Given the description of an element on the screen output the (x, y) to click on. 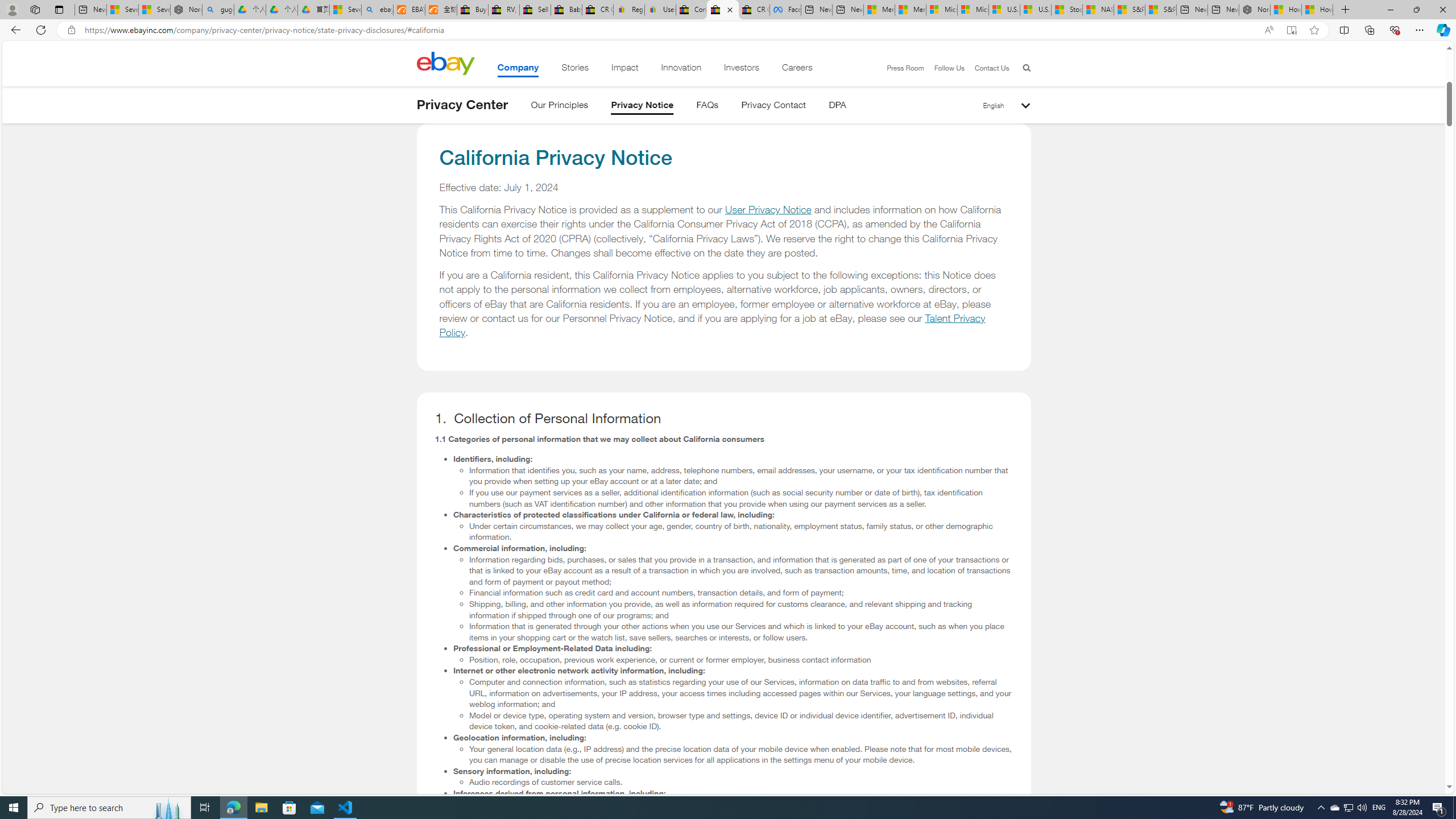
Our Principles (558, 107)
User Privacy Notice | eBay (660, 9)
Enter Immersive Reader (F9) (1291, 29)
DPA (836, 107)
Privacy Notice (642, 107)
Audio recordings of customer service calls. (740, 781)
